Given the description of an element on the screen output the (x, y) to click on. 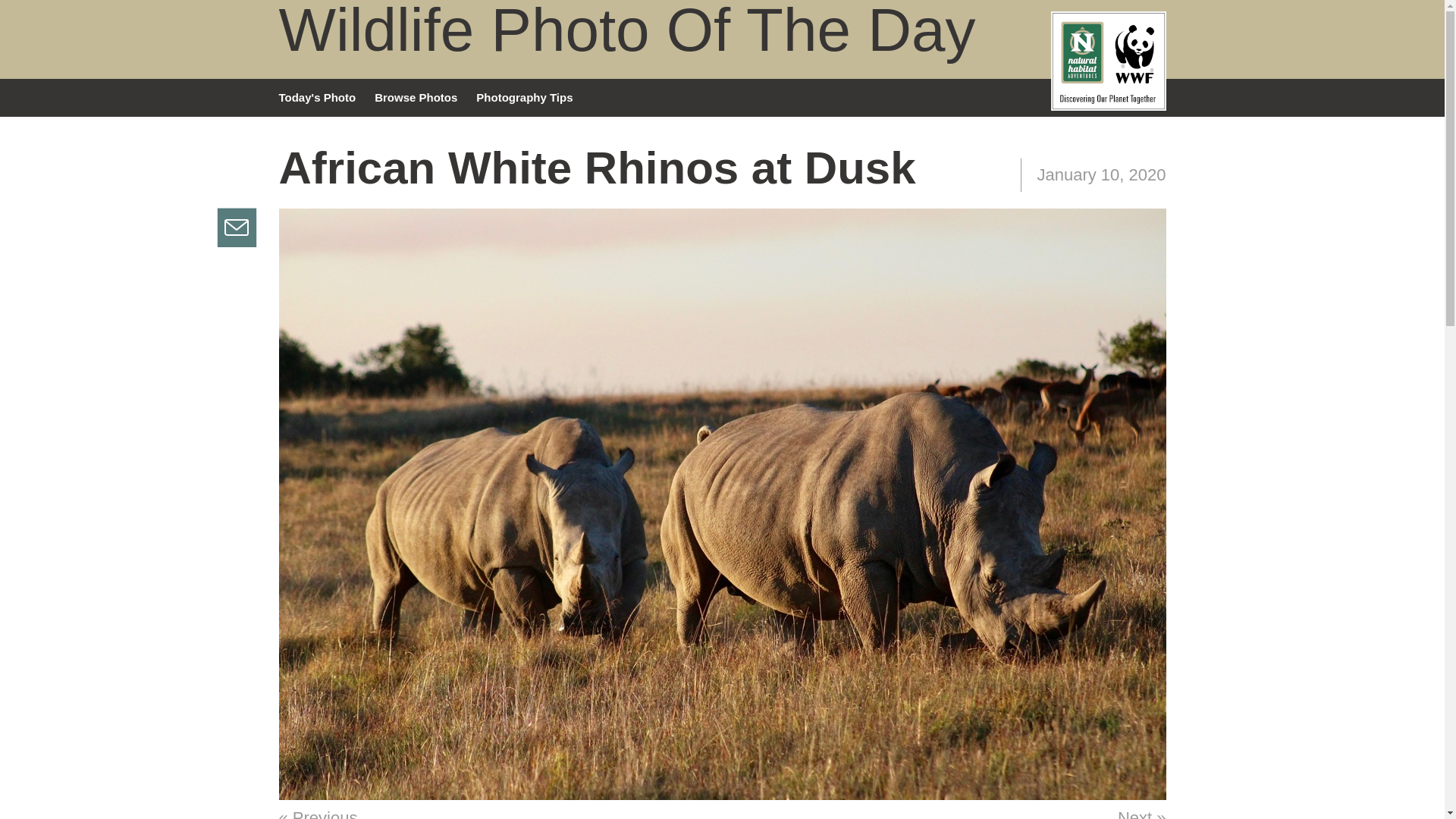
Today's Photo (327, 97)
Browse Photos (425, 97)
Photography Tips (533, 97)
Wildlife Photo Of The Day (627, 31)
